Given the description of an element on the screen output the (x, y) to click on. 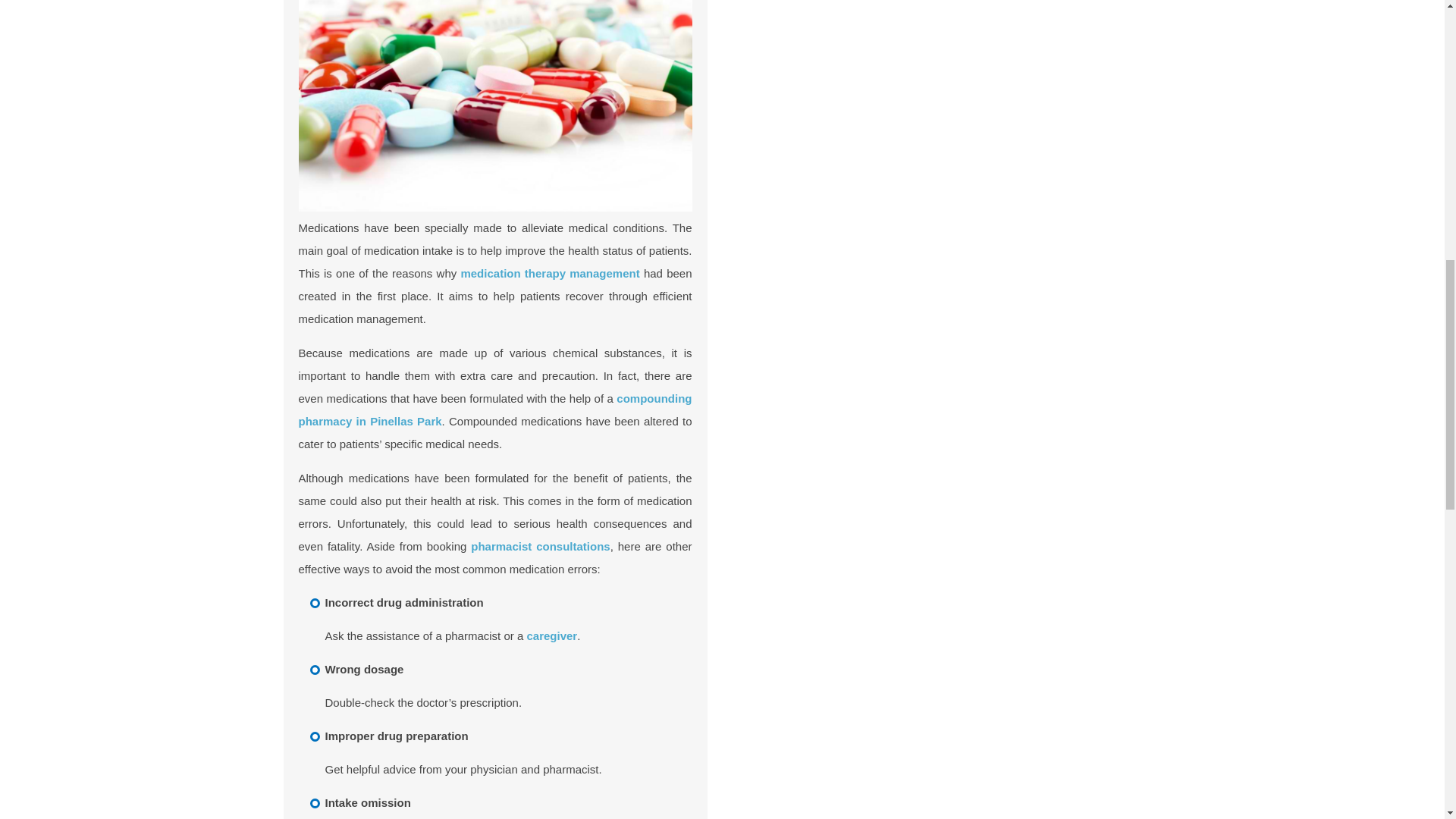
pharmacist consultations (540, 545)
compounding pharmacy in Pinellas Park (495, 409)
caregiver (550, 635)
medication therapy management (549, 273)
